Given the description of an element on the screen output the (x, y) to click on. 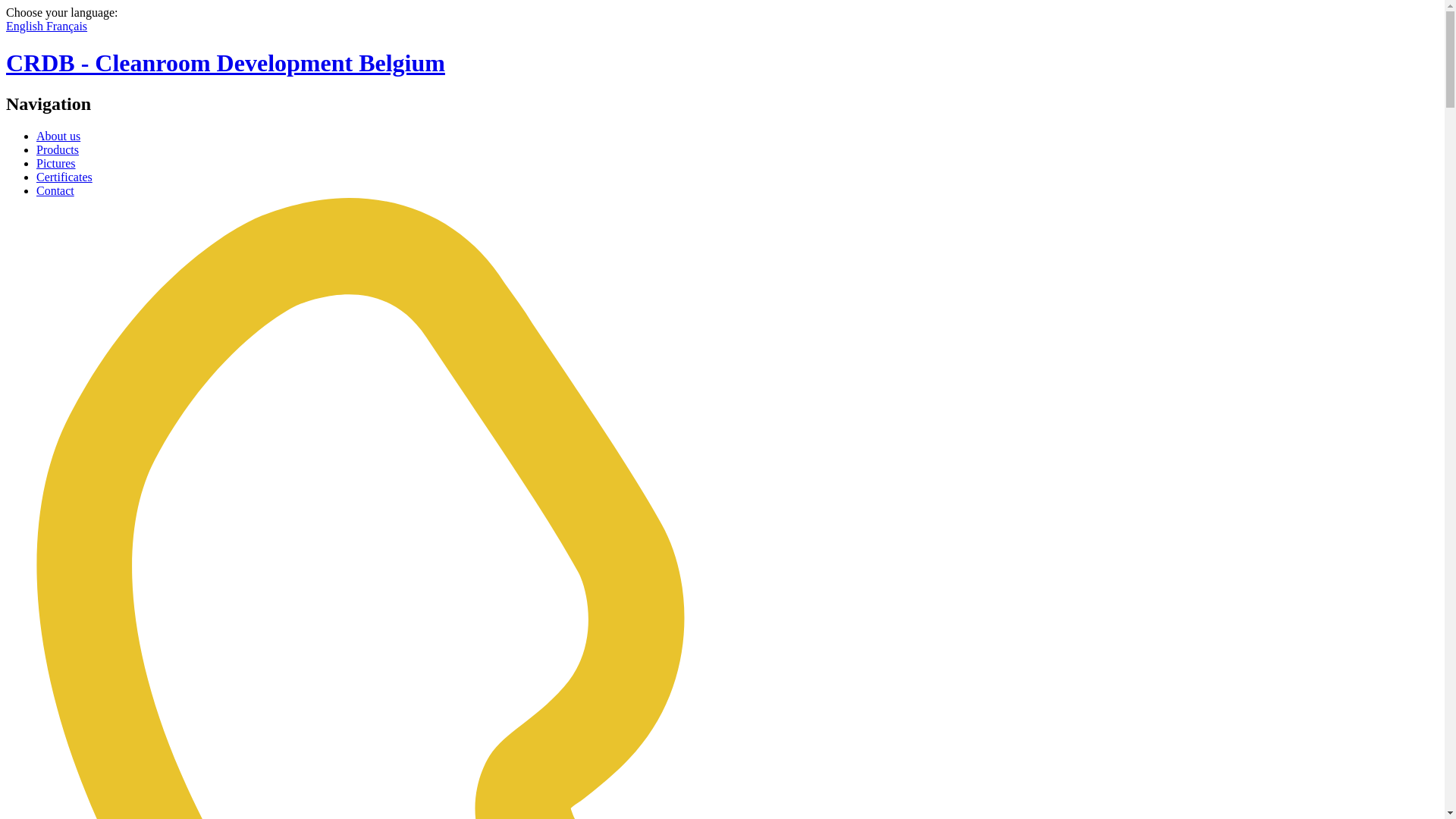
Contact Element type: text (55, 190)
English Element type: text (26, 25)
CRDB - Cleanroom Development Belgium Element type: text (722, 63)
Pictures Element type: text (55, 162)
Products Element type: text (57, 149)
Certificates Element type: text (64, 176)
About us Element type: text (58, 135)
